Given the description of an element on the screen output the (x, y) to click on. 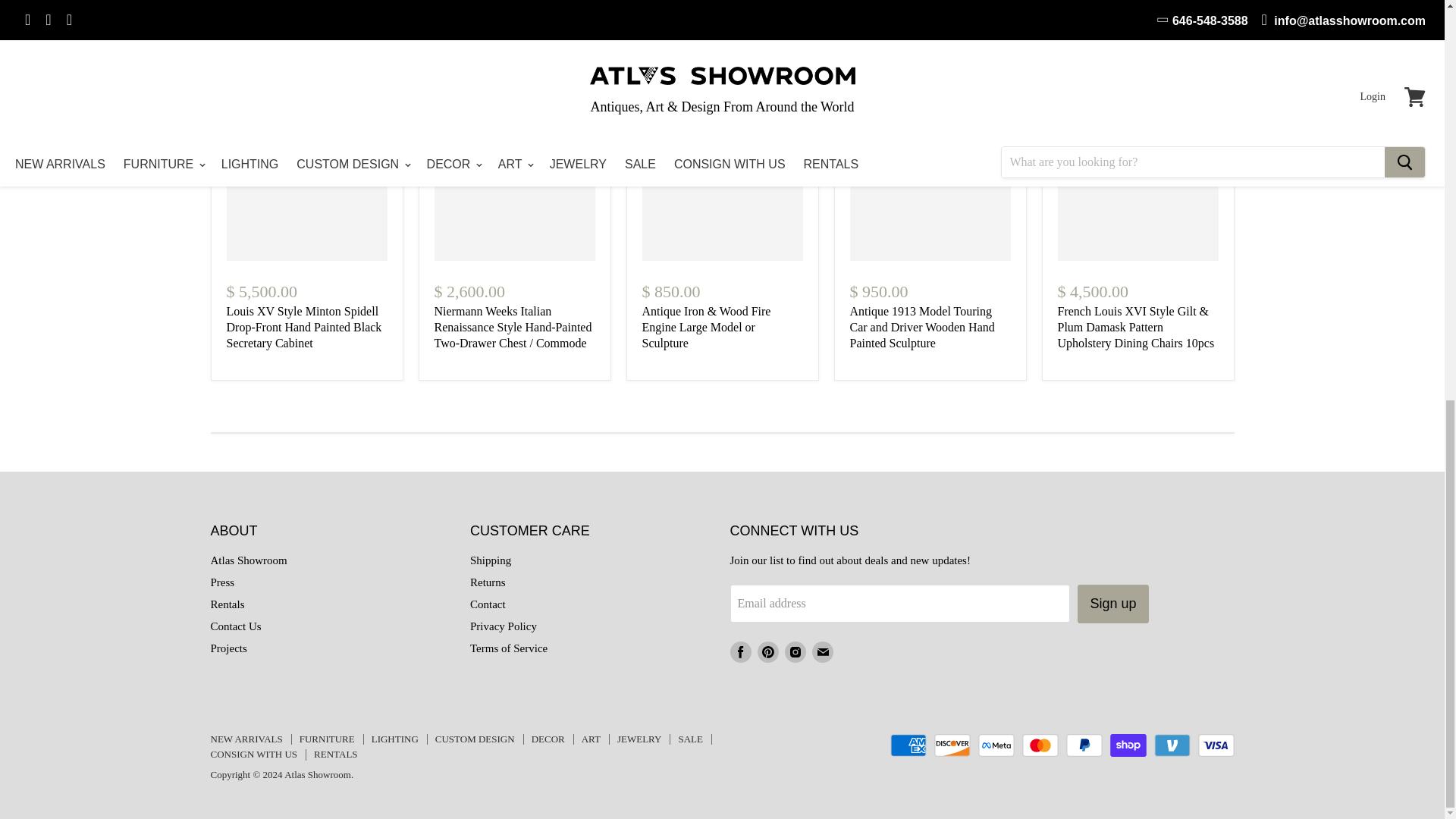
E-mail (821, 651)
Meta Pay (996, 744)
Mastercard (1040, 744)
American Express (907, 744)
Discover (952, 744)
Pinterest (767, 651)
Instagram (794, 651)
Facebook (740, 651)
